Given the description of an element on the screen output the (x, y) to click on. 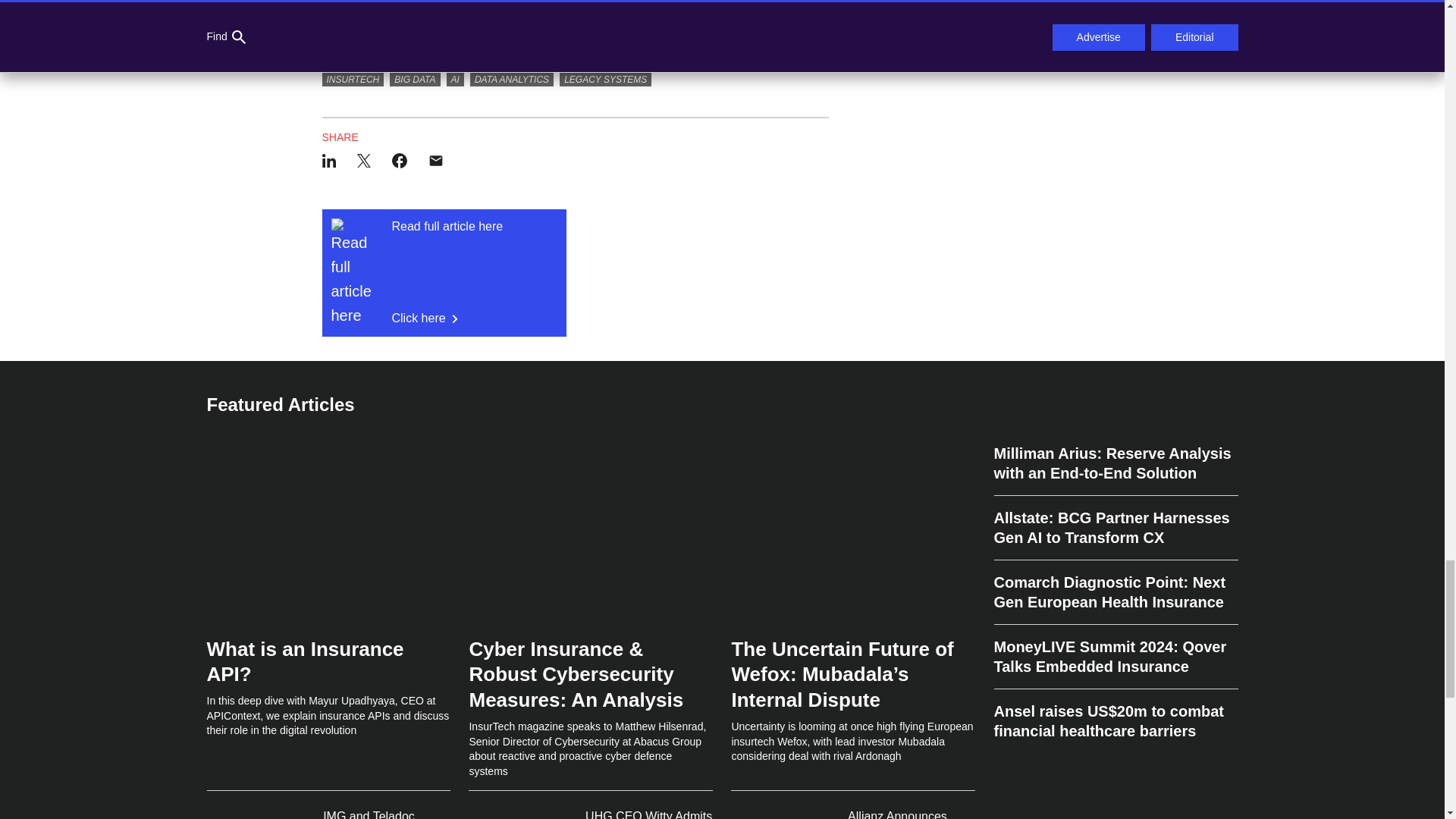
INSURTECH (352, 77)
DATA ANALYTICS (443, 272)
AI (511, 77)
LEGACY SYSTEMS (455, 77)
BIG DATA (604, 77)
